Given the description of an element on the screen output the (x, y) to click on. 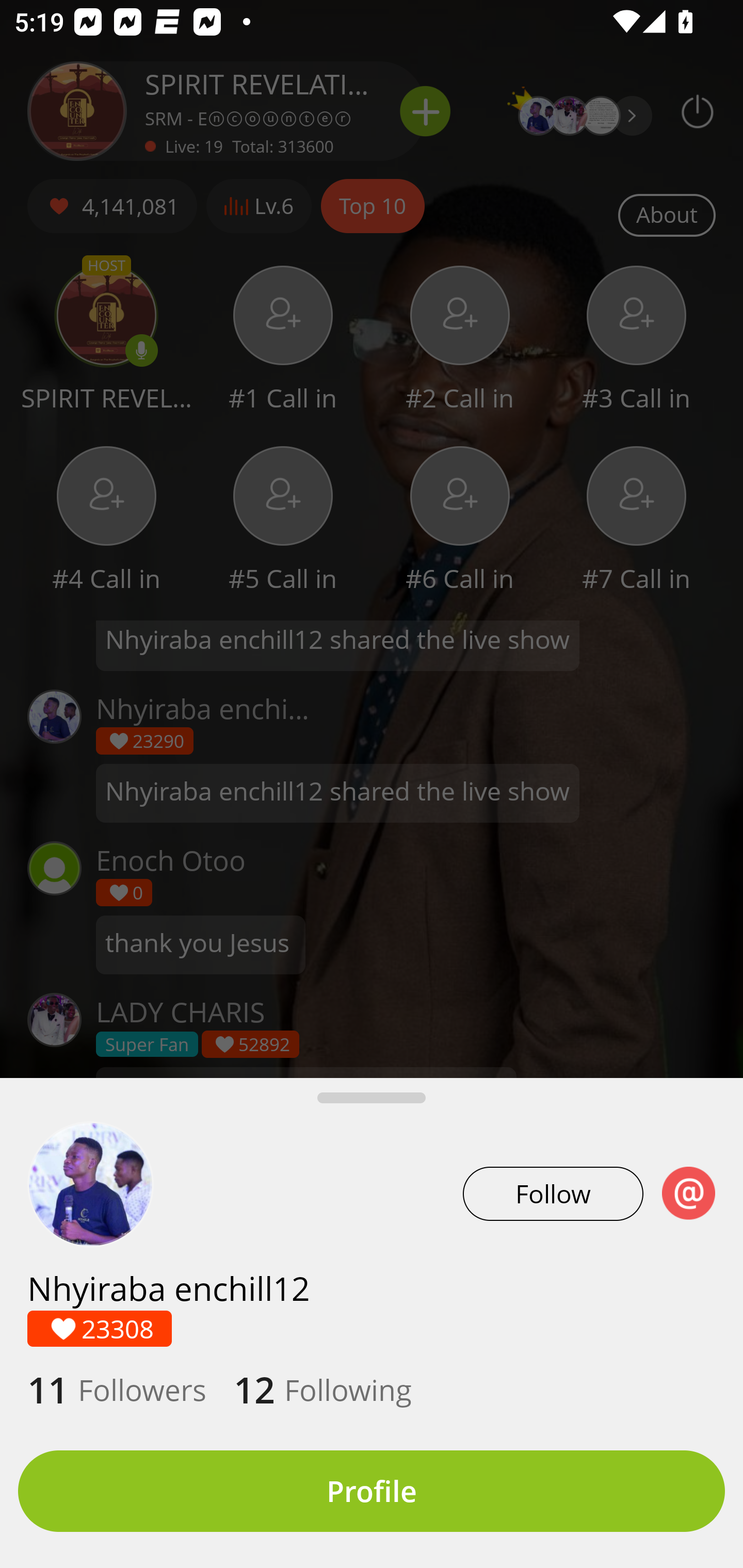
Follow (552, 1193)
Profile (371, 1490)
